Given the description of an element on the screen output the (x, y) to click on. 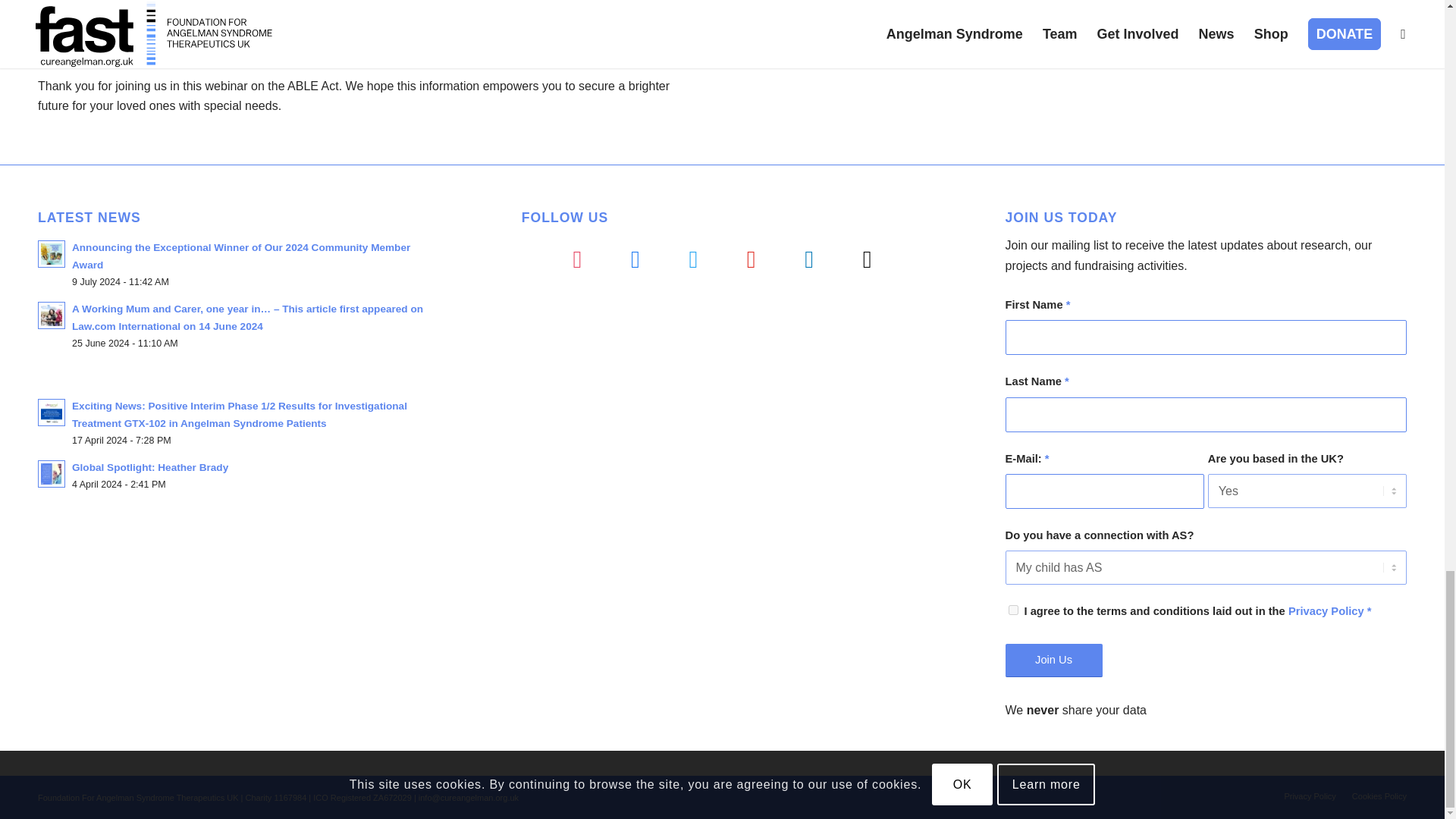
Read: Global Spotlight: Heather Brady (51, 473)
Read: Global Spotlight: Heather Brady (149, 467)
Join Us (1054, 660)
true (1013, 610)
